Given the description of an element on the screen output the (x, y) to click on. 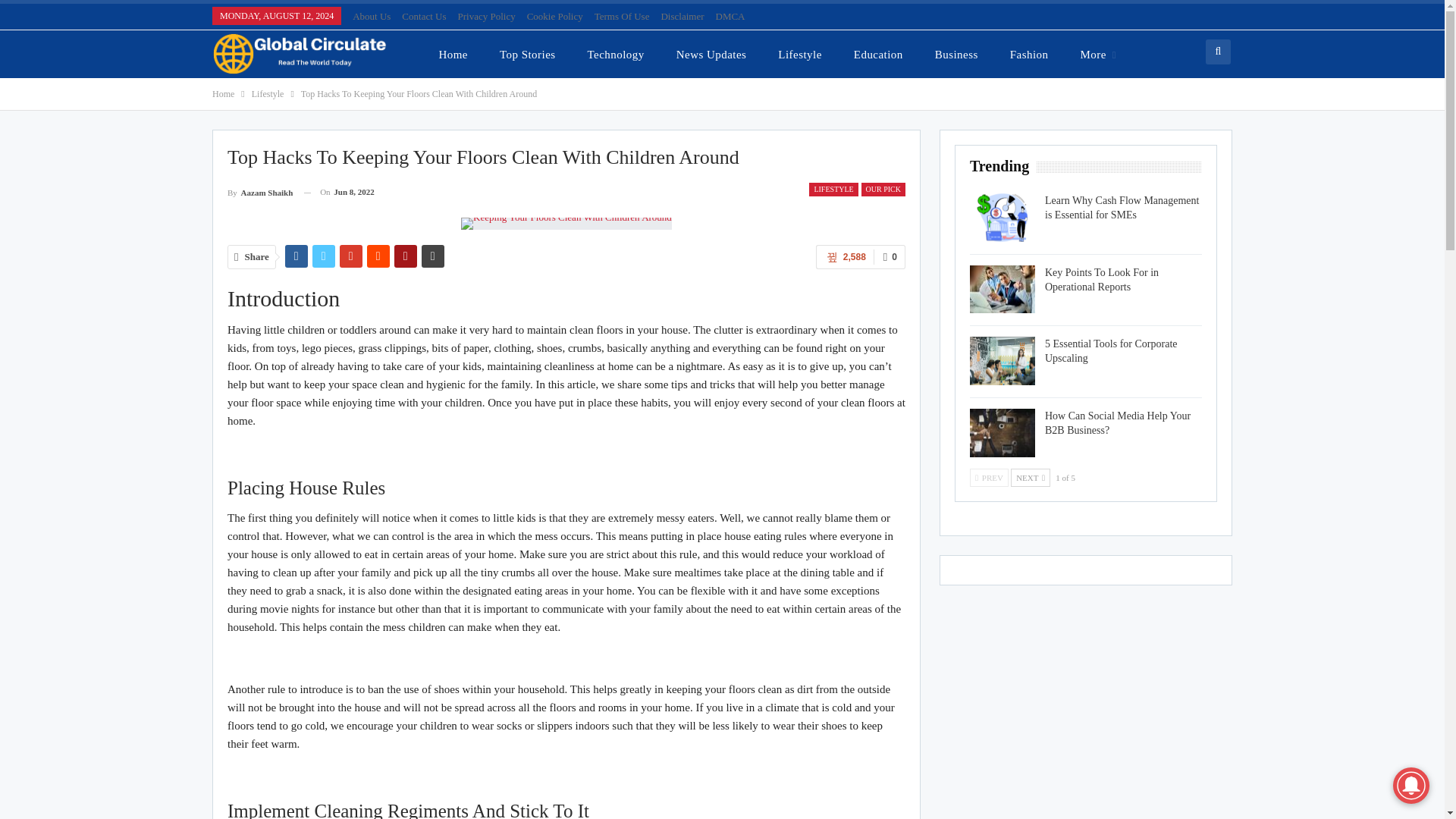
0 (889, 256)
Fashion (1029, 53)
LIFESTYLE (833, 189)
Lifestyle (798, 53)
OUR PICK (883, 189)
Lifestyle (267, 93)
Contact Us (423, 16)
Technology (615, 53)
Business (956, 53)
Cookie Policy (555, 16)
